Given the description of an element on the screen output the (x, y) to click on. 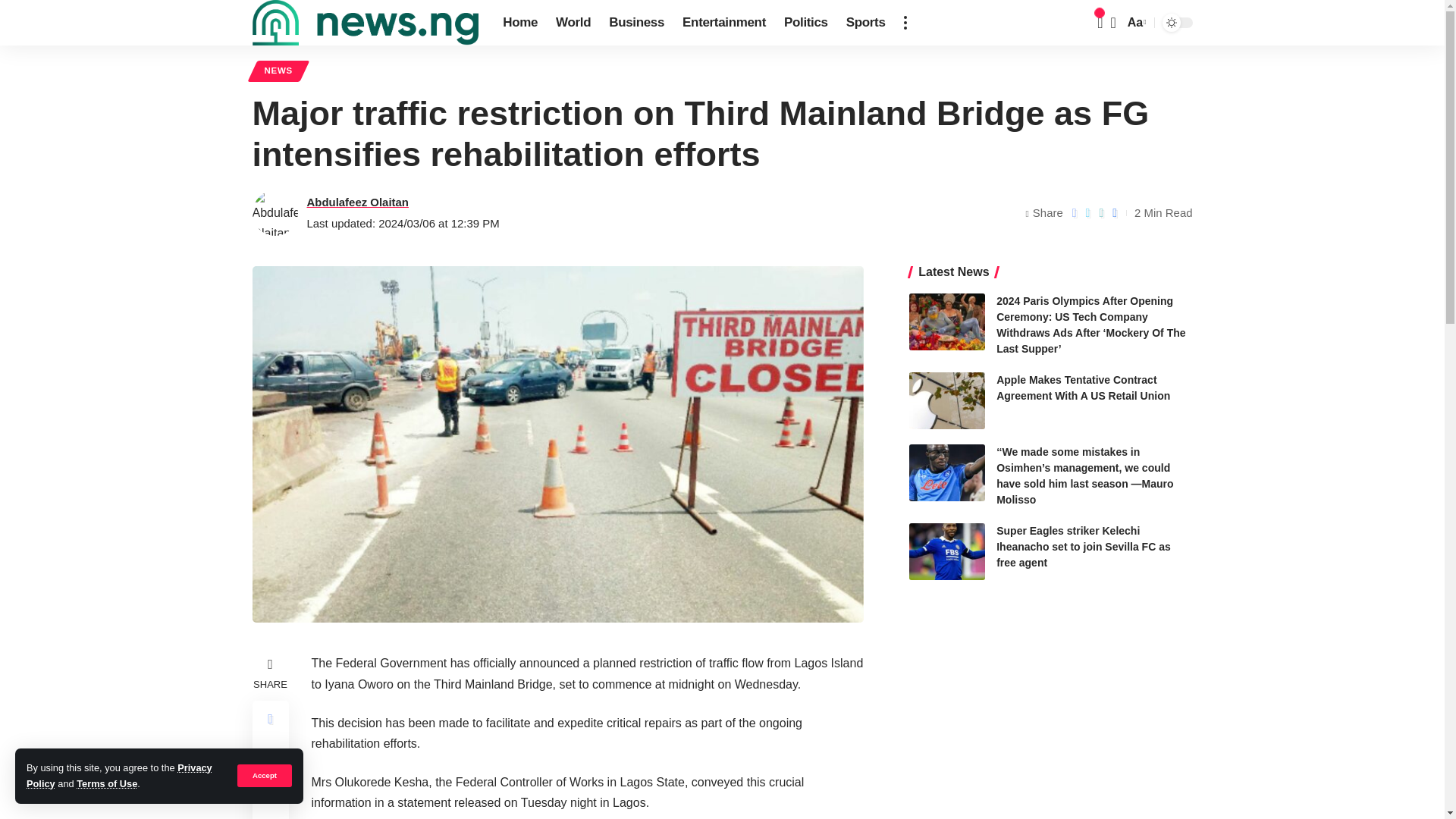
Terms of Use (106, 783)
Privacy Policy (119, 775)
Sports (866, 22)
News.ng (365, 22)
Business (635, 22)
Politics (805, 22)
Accept (264, 775)
Home (520, 22)
Entertainment (723, 22)
World (573, 22)
